Given the description of an element on the screen output the (x, y) to click on. 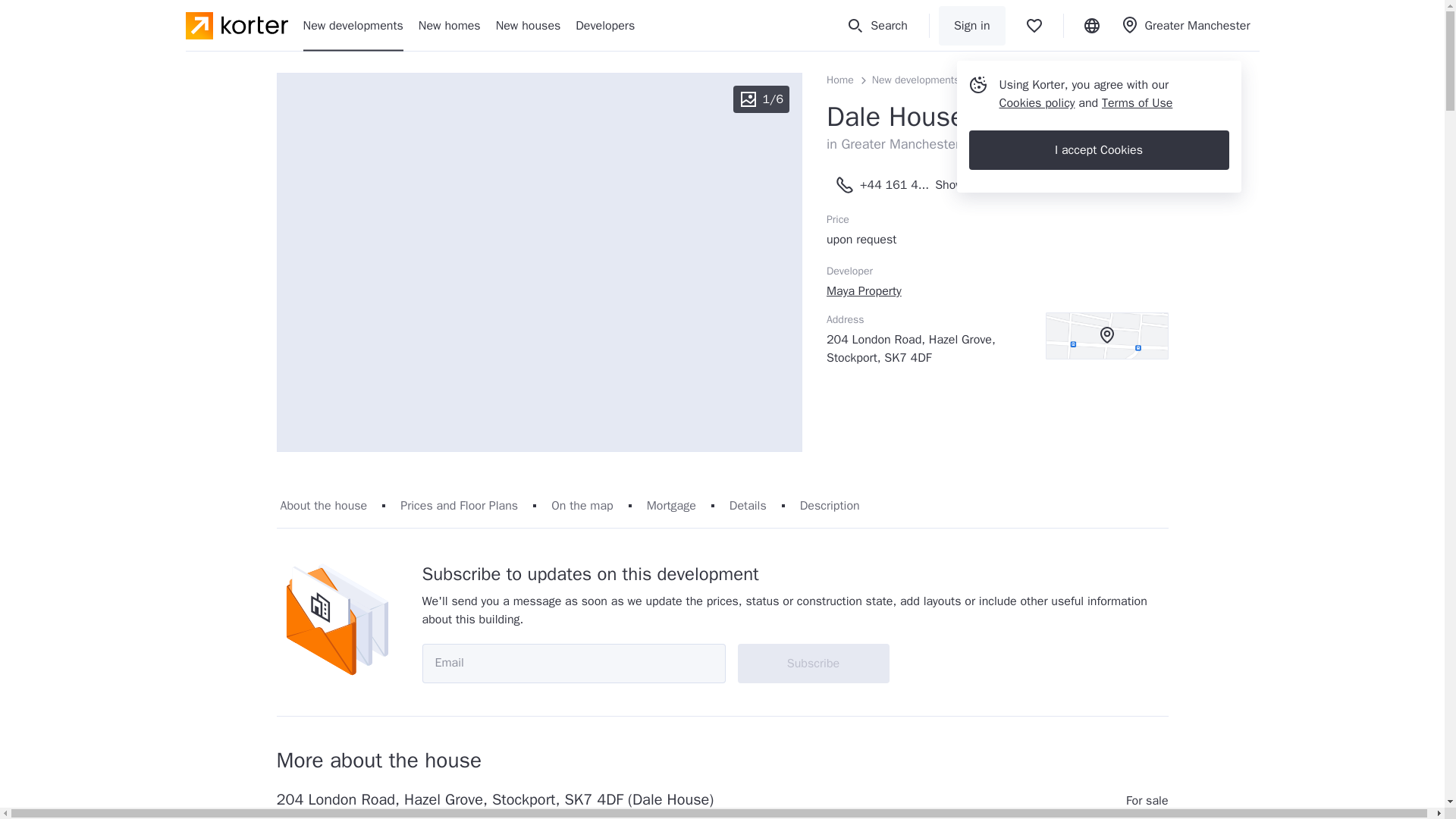
Maya Property (864, 290)
Home (840, 79)
Sign in (972, 25)
Terms of Use (1137, 103)
New homes (449, 25)
Details (748, 505)
Developers (604, 25)
I accept Cookies (1098, 149)
Maya Property (864, 290)
Prices and Floor Plans (459, 505)
